Given the description of an element on the screen output the (x, y) to click on. 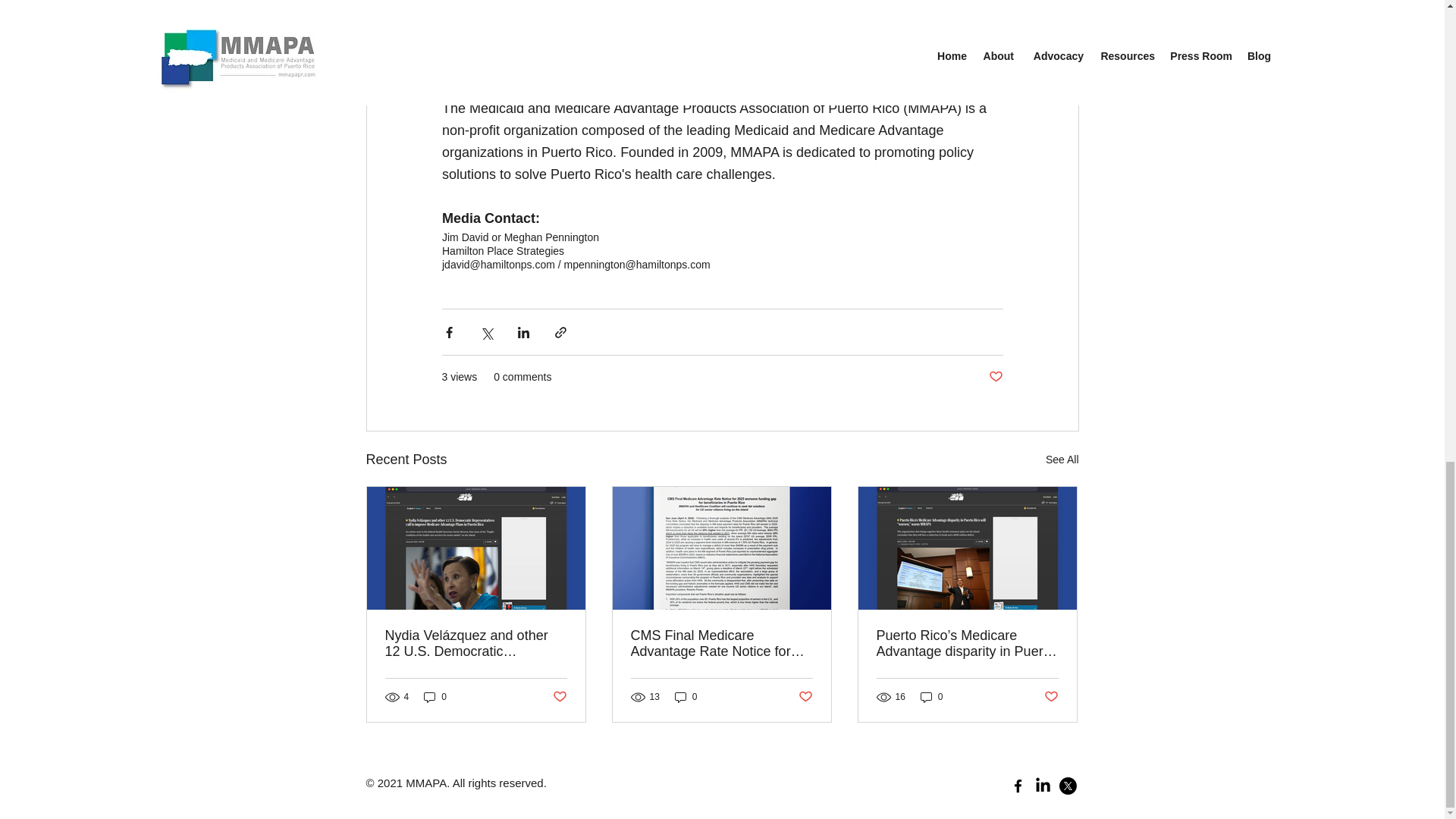
Post not marked as liked (995, 376)
0 (435, 697)
Post not marked as liked (558, 697)
0 (685, 697)
See All (1061, 459)
